Given the description of an element on the screen output the (x, y) to click on. 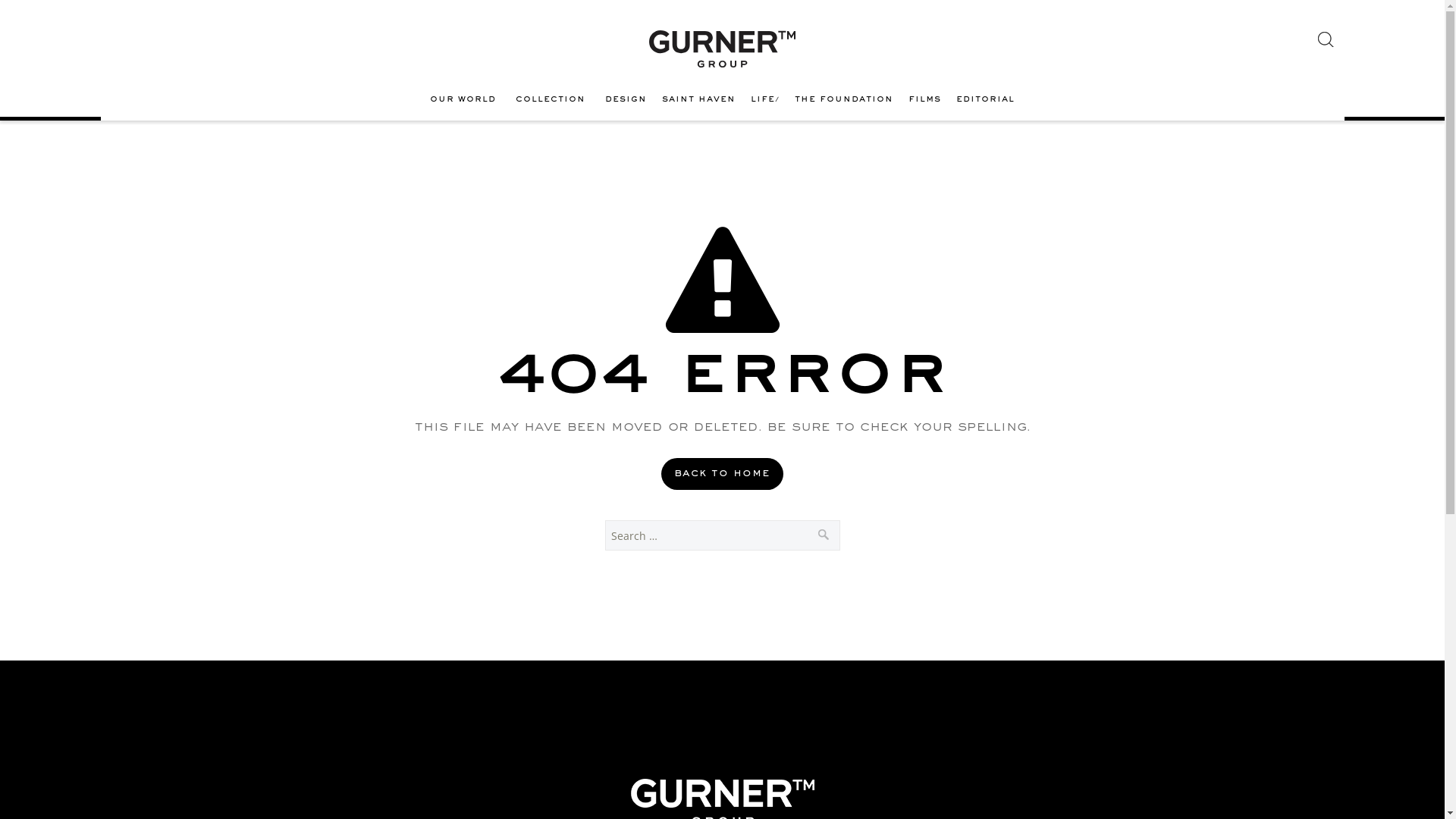
DESIGN Element type: text (625, 99)
Gurner Group Element type: hover (722, 48)
THE FOUNDATION Element type: text (843, 99)
Skip to content Element type: text (100, 78)
OUR WORLD Element type: text (464, 99)
SAINT HAVEN Element type: text (698, 99)
Search Element type: text (823, 532)
FILMS Element type: text (924, 99)
COLLECTION Element type: text (552, 99)
EDITORIAL Element type: text (985, 99)
LIFE/ Element type: text (764, 99)
BACK TO HOME Element type: text (722, 473)
